Given the description of an element on the screen output the (x, y) to click on. 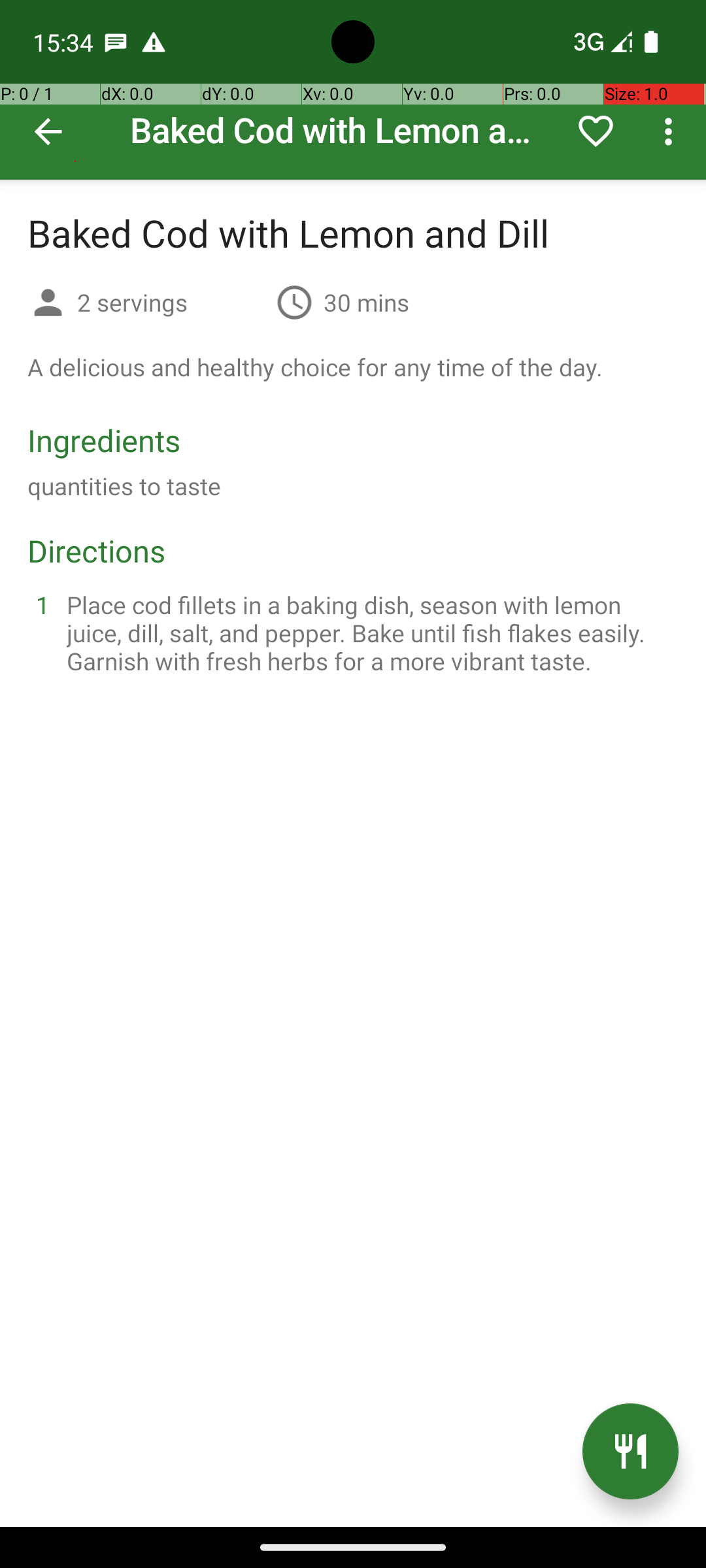
Place cod fillets in a baking dish, season with lemon juice, dill, salt, and pepper. Bake until fish flakes easily. Garnish with fresh herbs for a more vibrant taste. Element type: android.widget.TextView (368, 632)
